Given the description of an element on the screen output the (x, y) to click on. 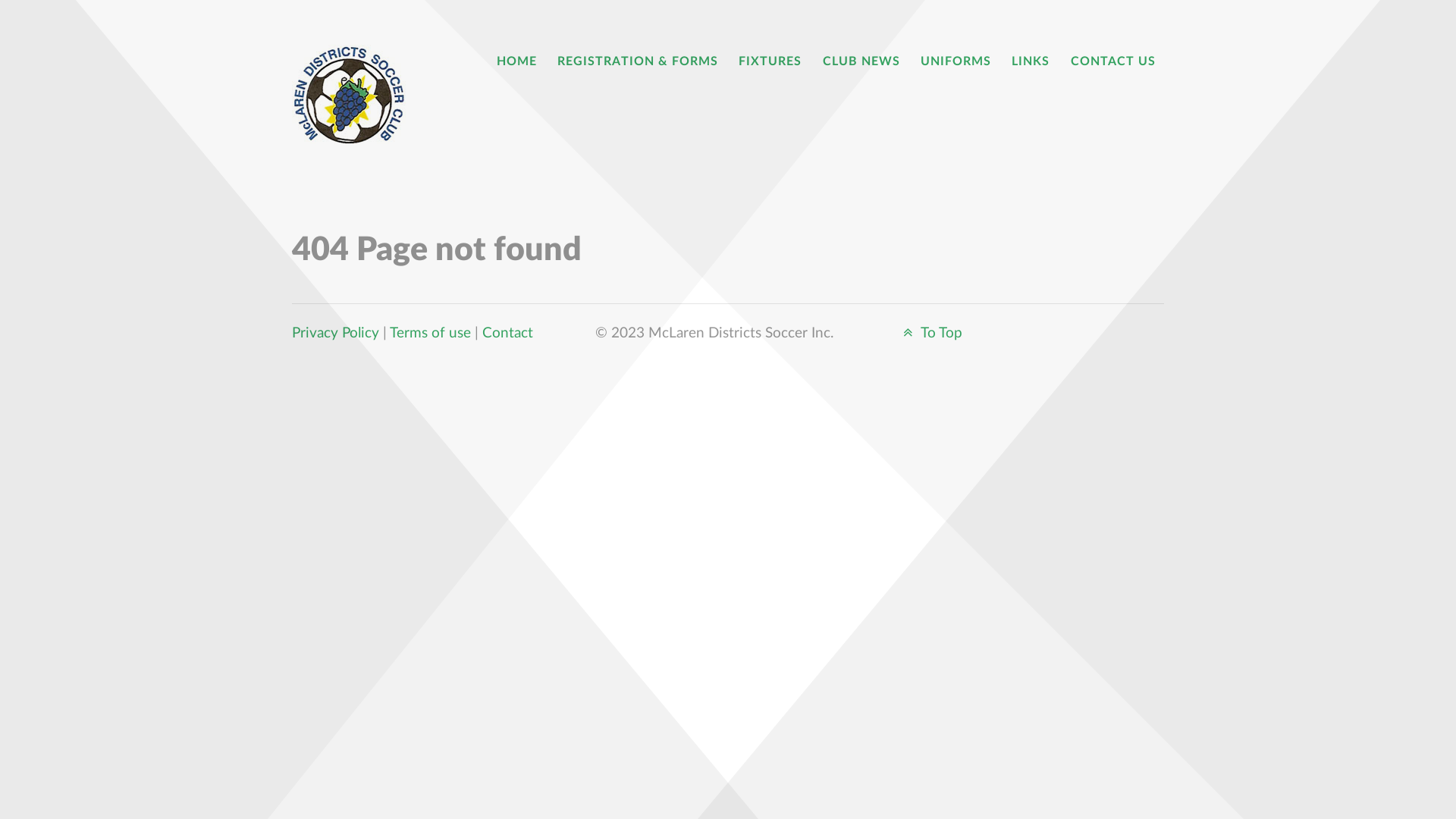
CLUB NEWS Element type: text (861, 61)
HOME Element type: text (516, 61)
FIXTURES Element type: text (769, 61)
CONTACT US Element type: text (1112, 61)
LINKS Element type: text (1030, 61)
To Top Element type: text (930, 333)
Privacy Policy Element type: text (335, 333)
UNIFORMS Element type: text (955, 61)
Contact Element type: text (507, 333)
REGISTRATION & FORMS Element type: text (637, 61)
McLaren Districts Soccer Club Element type: hover (354, 93)
Terms of use Element type: text (429, 333)
